Given the description of an element on the screen output the (x, y) to click on. 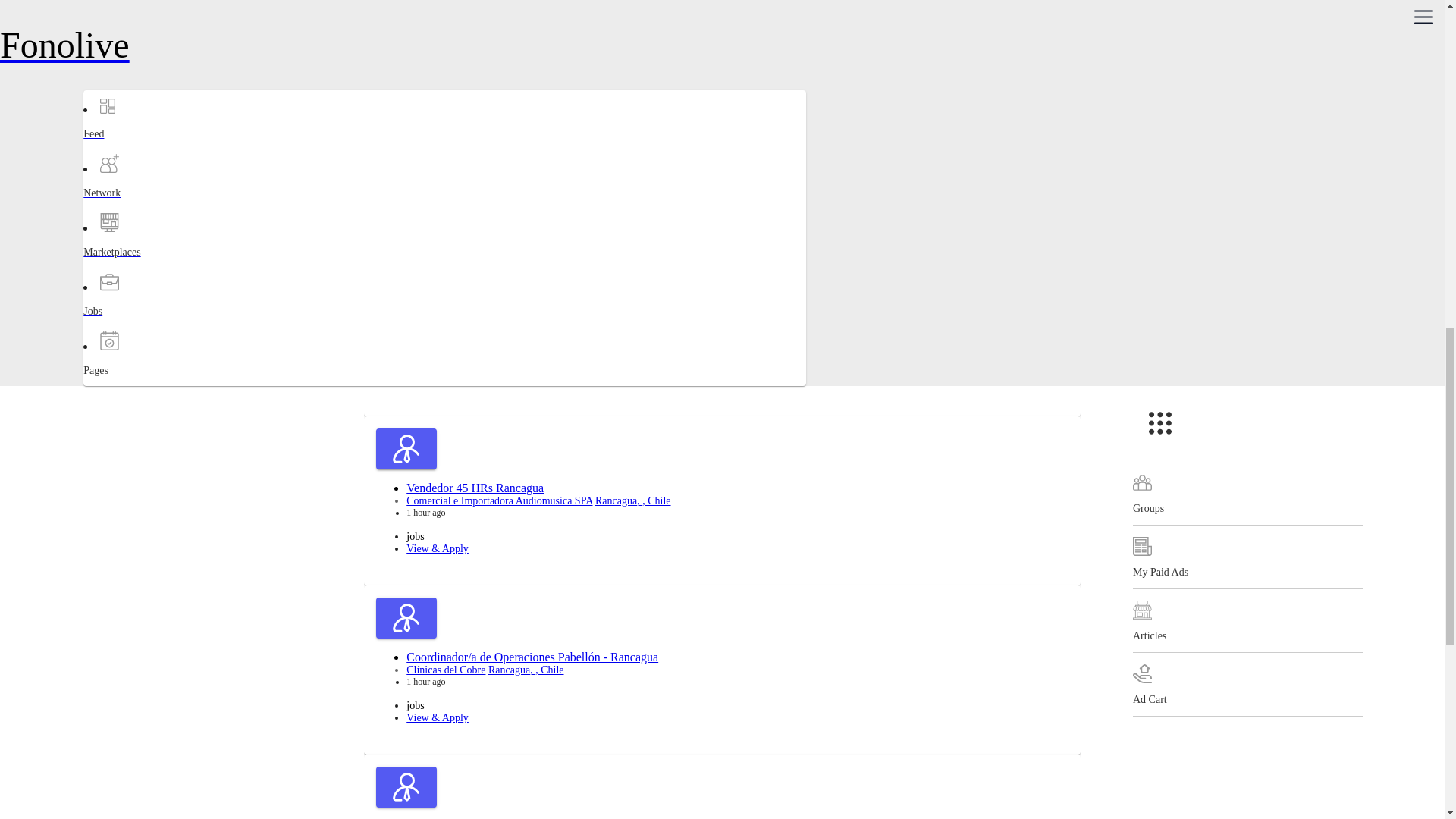
Bodeguero Rancagua (458, 149)
